Given the description of an element on the screen output the (x, y) to click on. 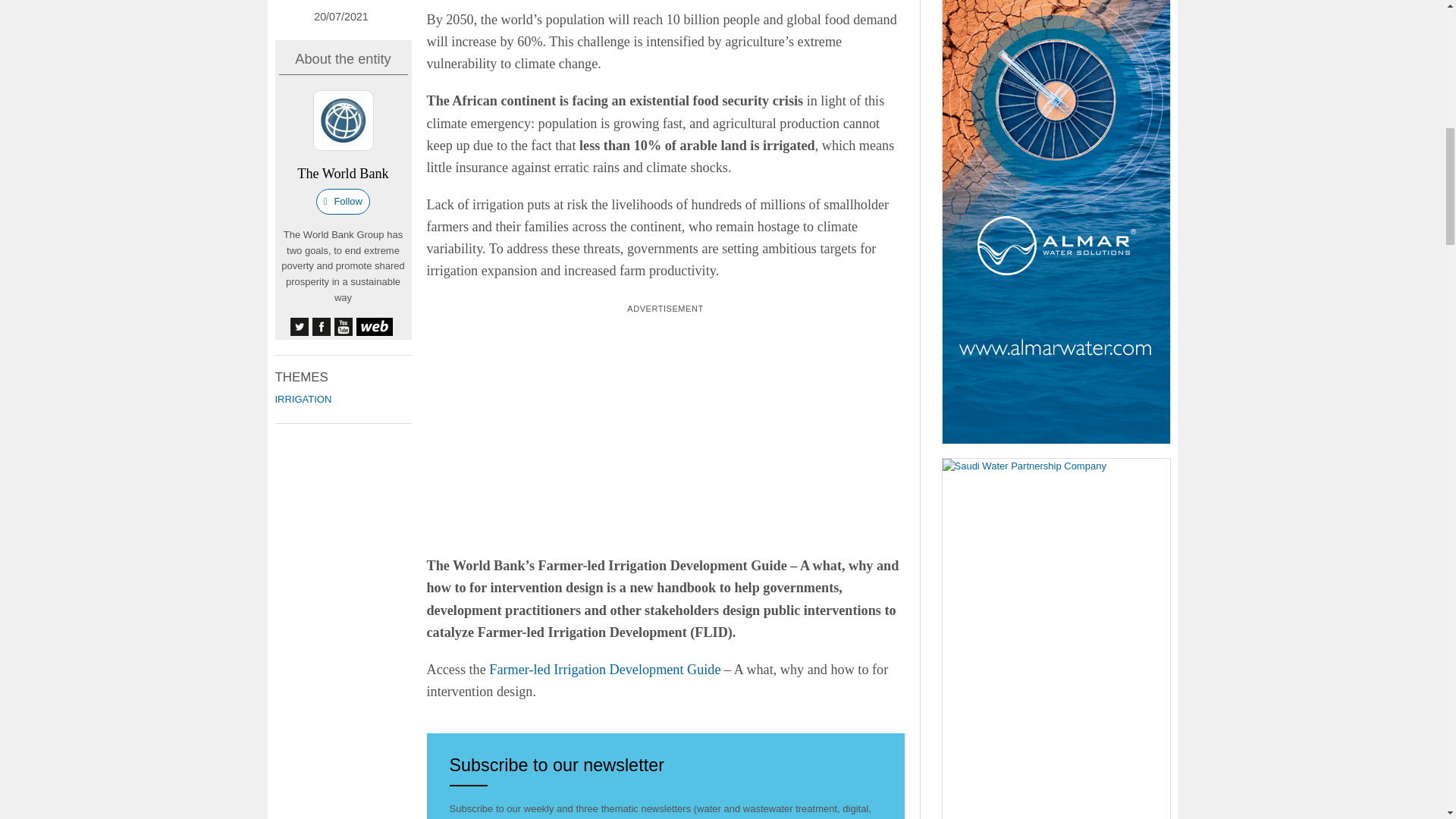
View The World Bank's channel on Youtube (342, 326)
View The World Bank's profile on Facebook (321, 326)
View The World Bank's profile on Twitter (298, 326)
View The World Bank's website (374, 326)
